Given the description of an element on the screen output the (x, y) to click on. 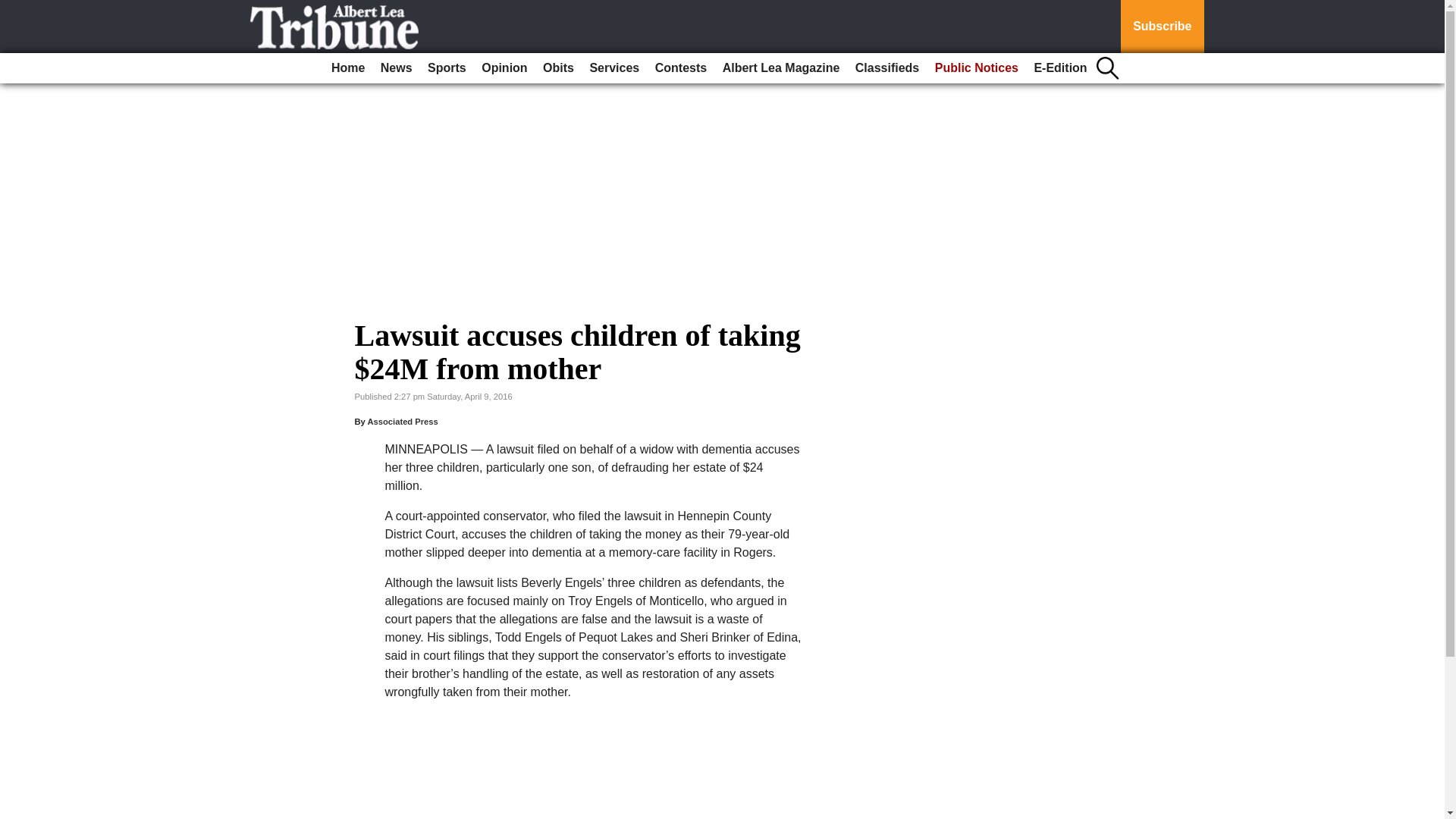
Sports (446, 68)
Opinion (504, 68)
Subscribe (1162, 26)
Obits (558, 68)
News (396, 68)
Services (614, 68)
Home (347, 68)
